Given the description of an element on the screen output the (x, y) to click on. 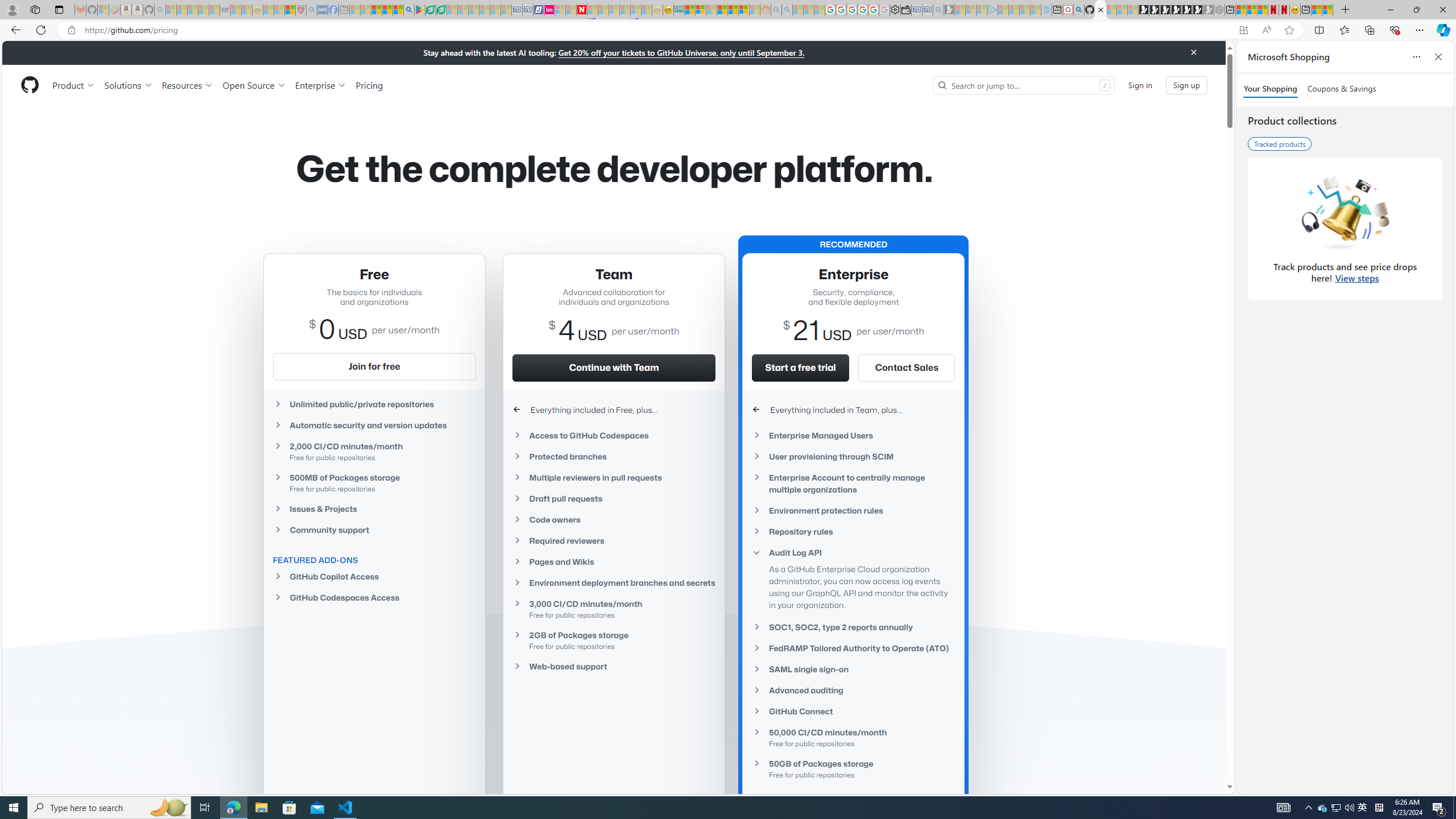
Draft pull requests (614, 498)
Environment deployment branches and secrets (614, 582)
500MB of Packages storage Free for public repositories (374, 482)
Local - MSN (289, 9)
Advanced auditing (853, 690)
Unlimited public/private repositories (374, 404)
Solutions (128, 84)
